Given the description of an element on the screen output the (x, y) to click on. 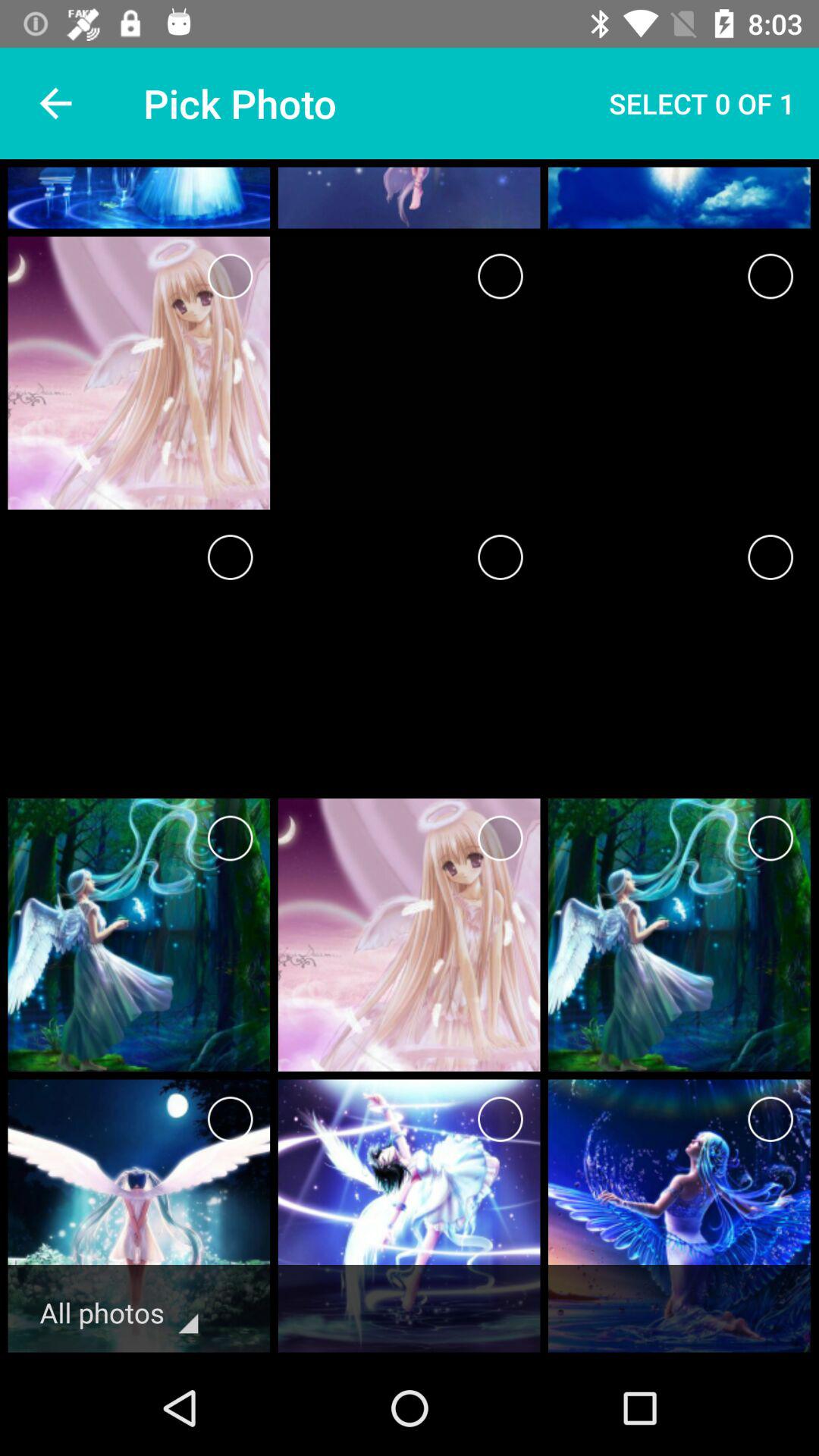
photo select option (230, 1119)
